Given the description of an element on the screen output the (x, y) to click on. 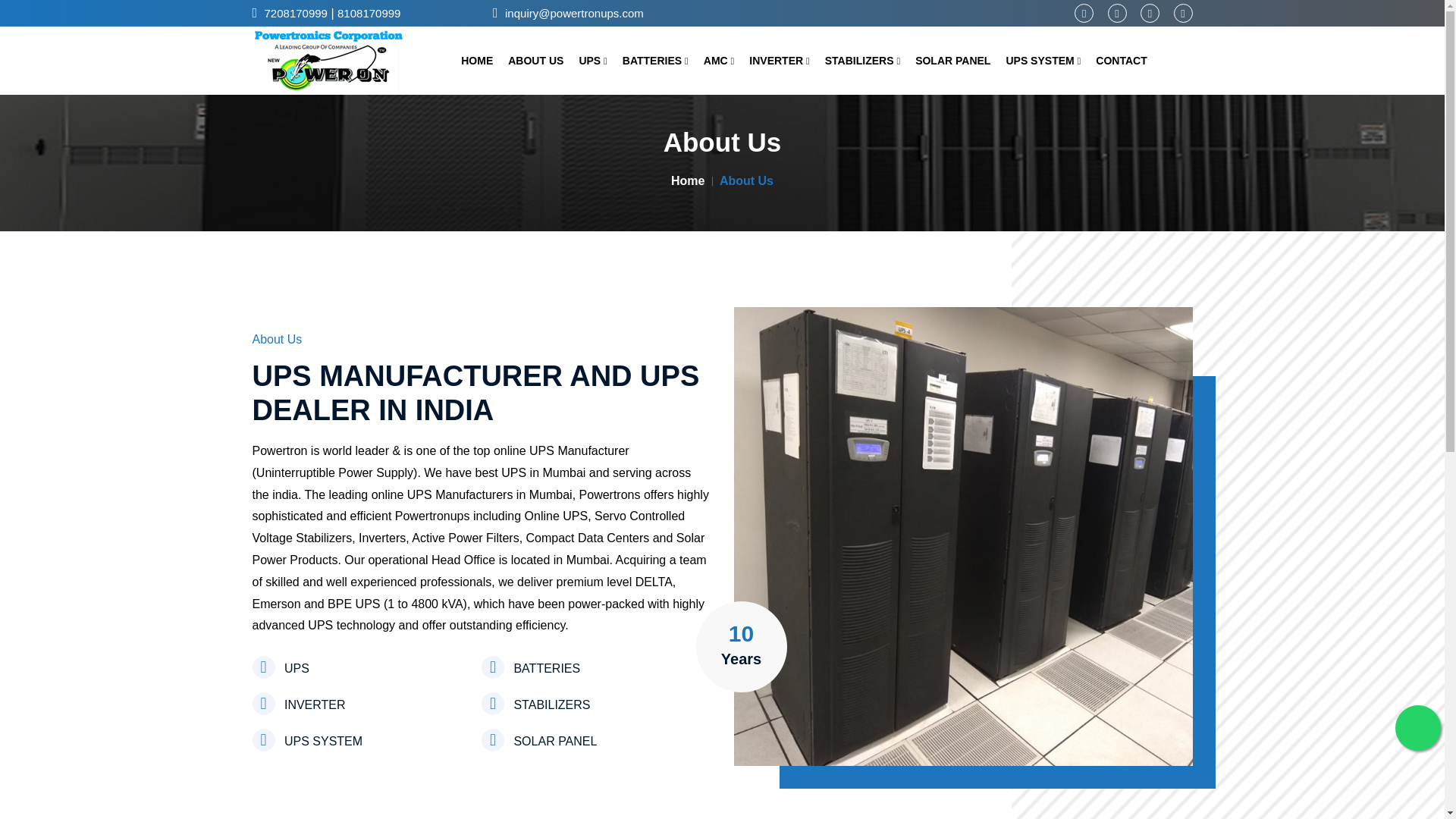
INVERTER (779, 59)
SOLAR PANEL (952, 59)
Home (687, 180)
HOME (477, 59)
ABOUT US (535, 59)
8108170999 (368, 13)
AMC (719, 59)
UPS (592, 59)
BATTERIES (655, 59)
CONTACT (1121, 59)
7208170999 (295, 13)
STABILIZERS (862, 59)
UPS SYSTEM (1043, 59)
